Given the description of an element on the screen output the (x, y) to click on. 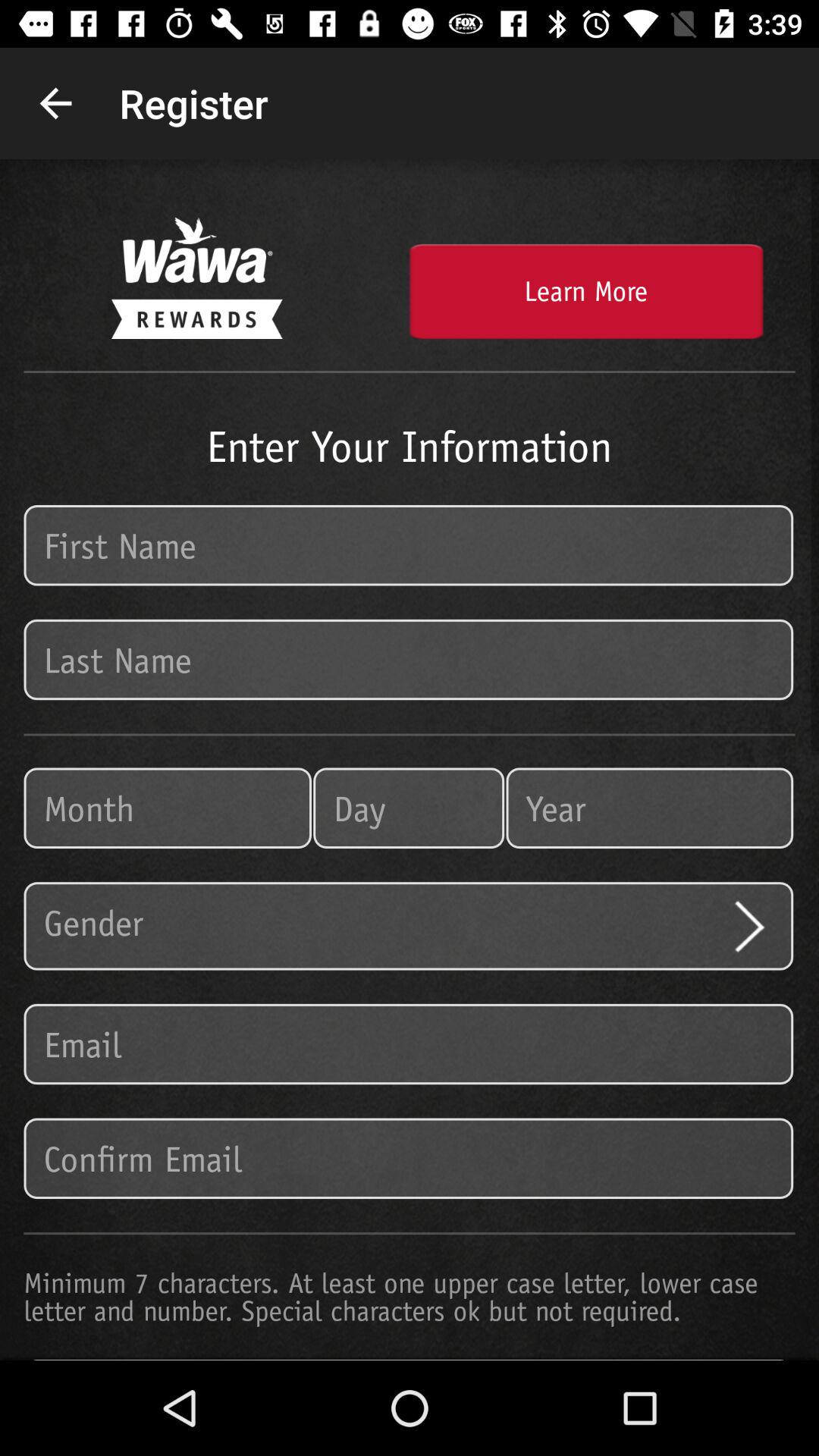
press the learn more icon (585, 290)
